Given the description of an element on the screen output the (x, y) to click on. 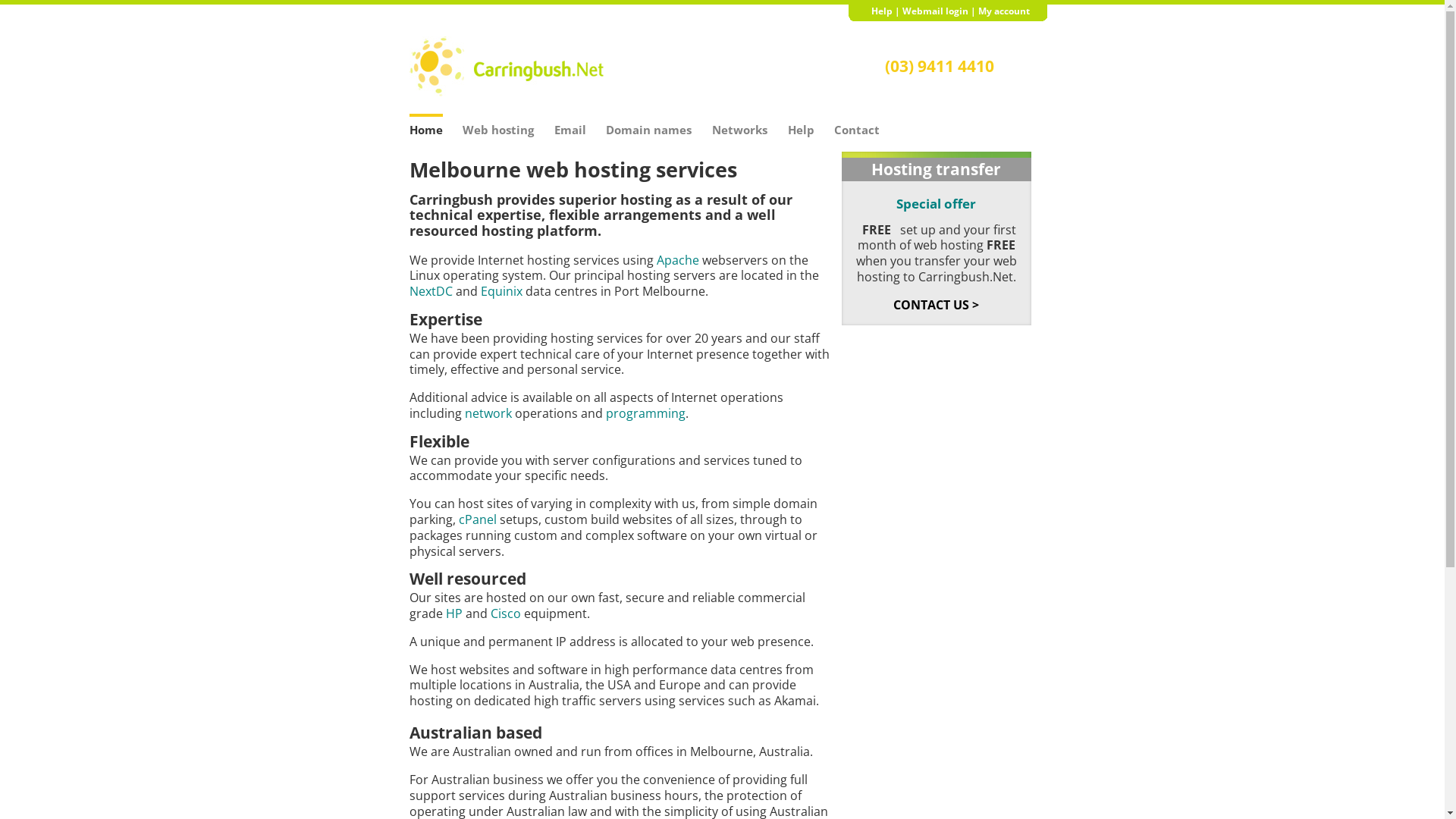
Equinix Element type: text (501, 290)
Domain names Element type: text (648, 124)
programming Element type: text (644, 412)
Apache Element type: text (677, 259)
(03) 9411 4410 Element type: text (939, 65)
Help Element type: text (880, 10)
Web hosting Element type: text (497, 124)
network Element type: text (487, 412)
Help Element type: text (800, 124)
cPanel Element type: text (476, 519)
Akamai Element type: text (794, 700)
CONTACT US > Element type: text (936, 304)
Contact Element type: text (856, 124)
Webmail login Element type: text (935, 10)
Networks Element type: text (739, 124)
NextDC Element type: text (430, 290)
Carringbush.Net, Melbourne Element type: hover (506, 66)
Cisco Element type: text (504, 613)
My account Element type: text (1003, 10)
Home Element type: text (425, 124)
HP Element type: text (453, 613)
Email Element type: text (570, 124)
